Given the description of an element on the screen output the (x, y) to click on. 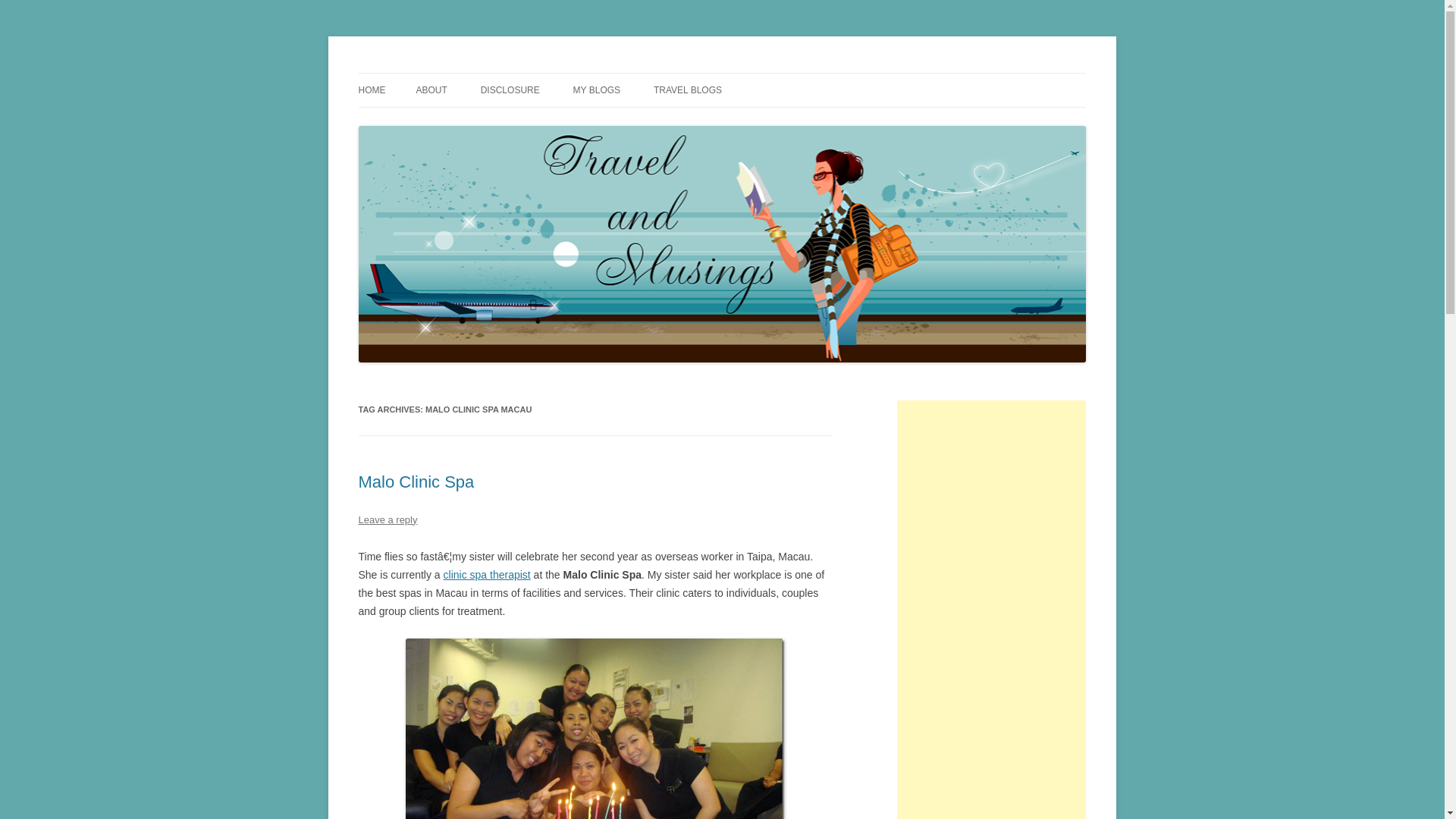
DISCLOSURE (510, 90)
Leave a reply (387, 519)
MY BLOGS (596, 90)
clinic spa therapist (487, 574)
TRAVEL BLOGS (687, 90)
MALO Spa Therapists (595, 728)
ABOUT (430, 90)
Malo Clinic Spa (416, 481)
Travel and Musings (449, 72)
